Given the description of an element on the screen output the (x, y) to click on. 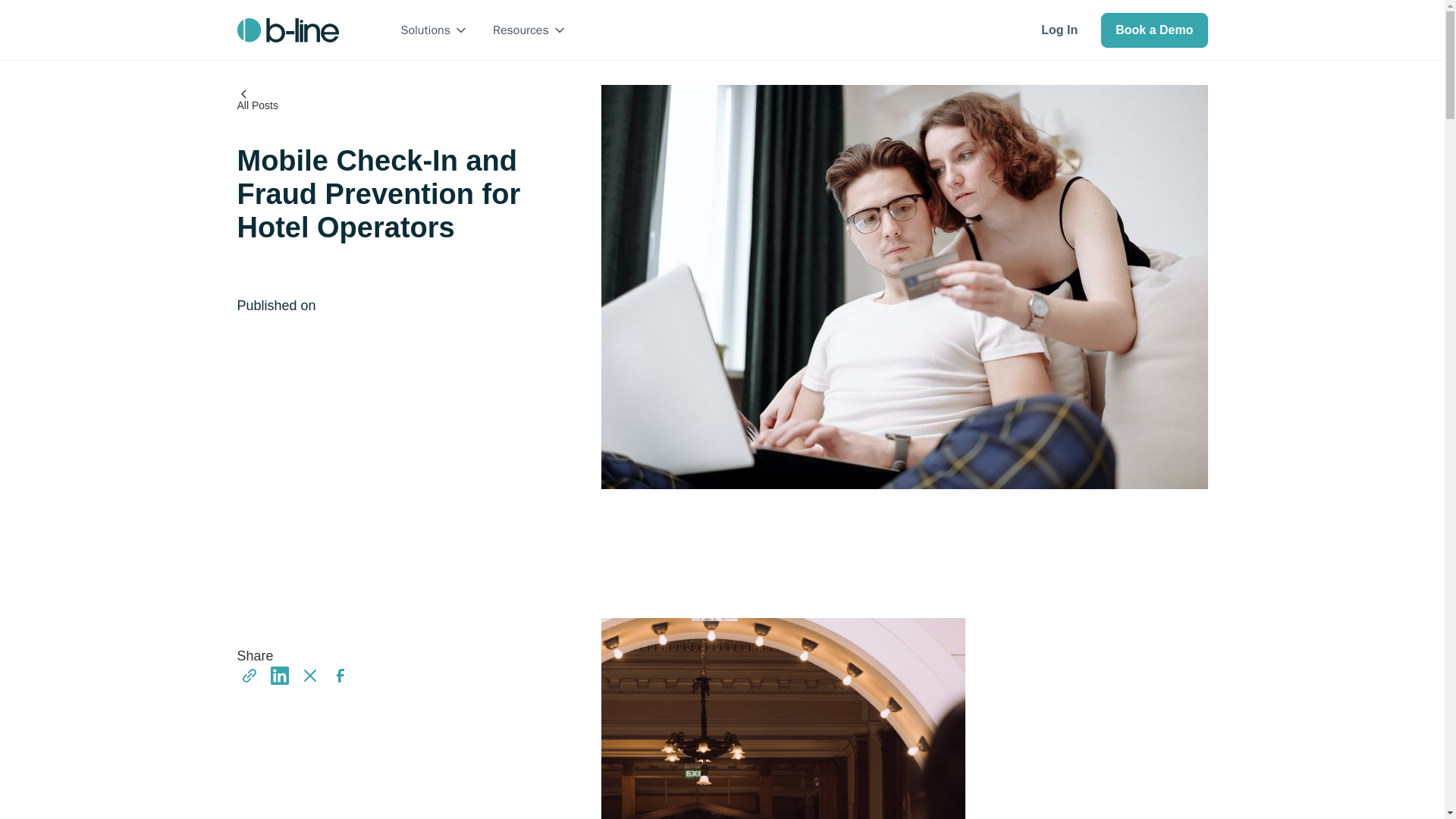
All Posts (256, 99)
Log In (1059, 29)
Book a Demo (1153, 29)
